Given the description of an element on the screen output the (x, y) to click on. 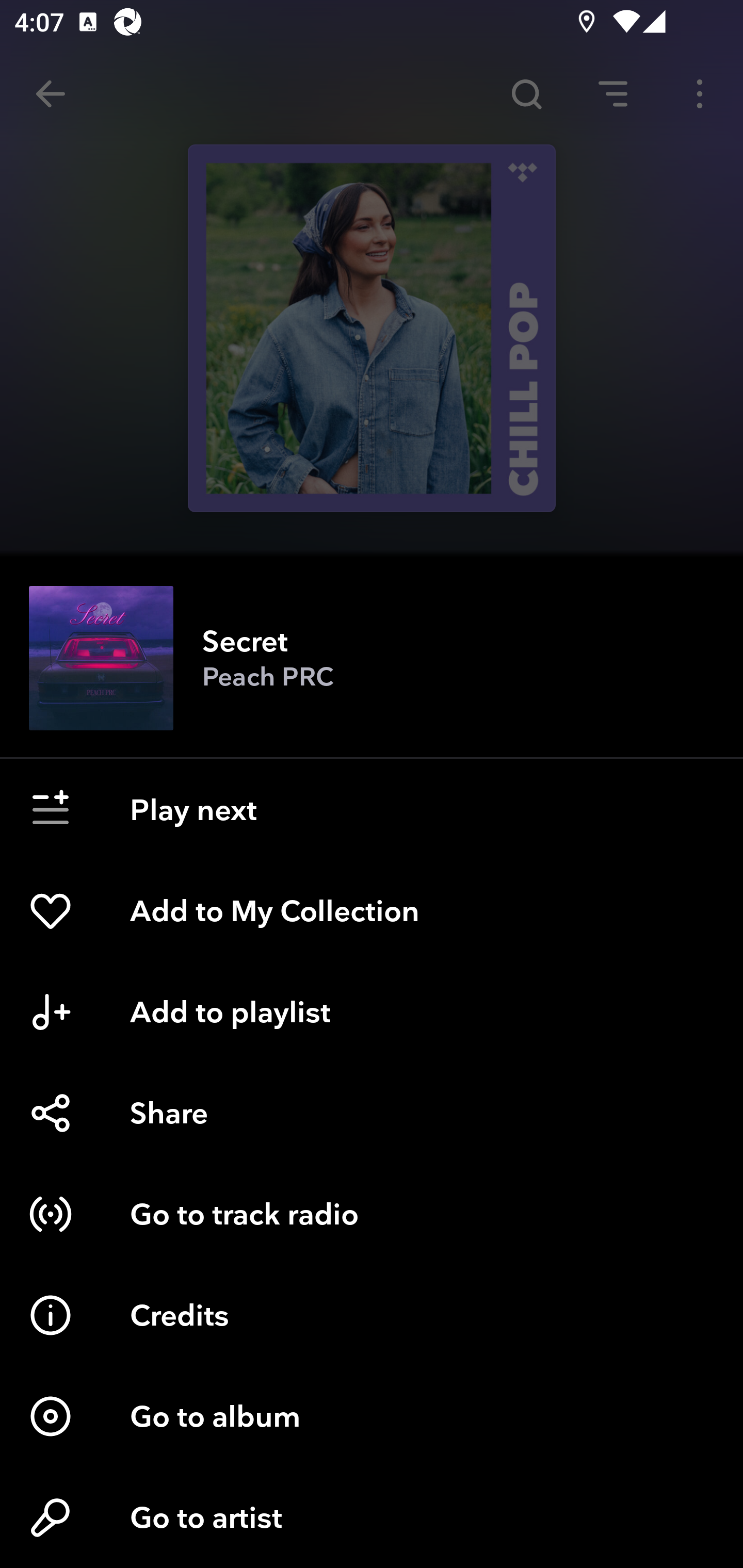
Play next (371, 809)
Add to My Collection (371, 910)
Add to playlist (371, 1012)
Share (371, 1113)
Go to track radio (371, 1214)
Credits (371, 1315)
Go to album (371, 1416)
Go to artist (371, 1517)
